Given the description of an element on the screen output the (x, y) to click on. 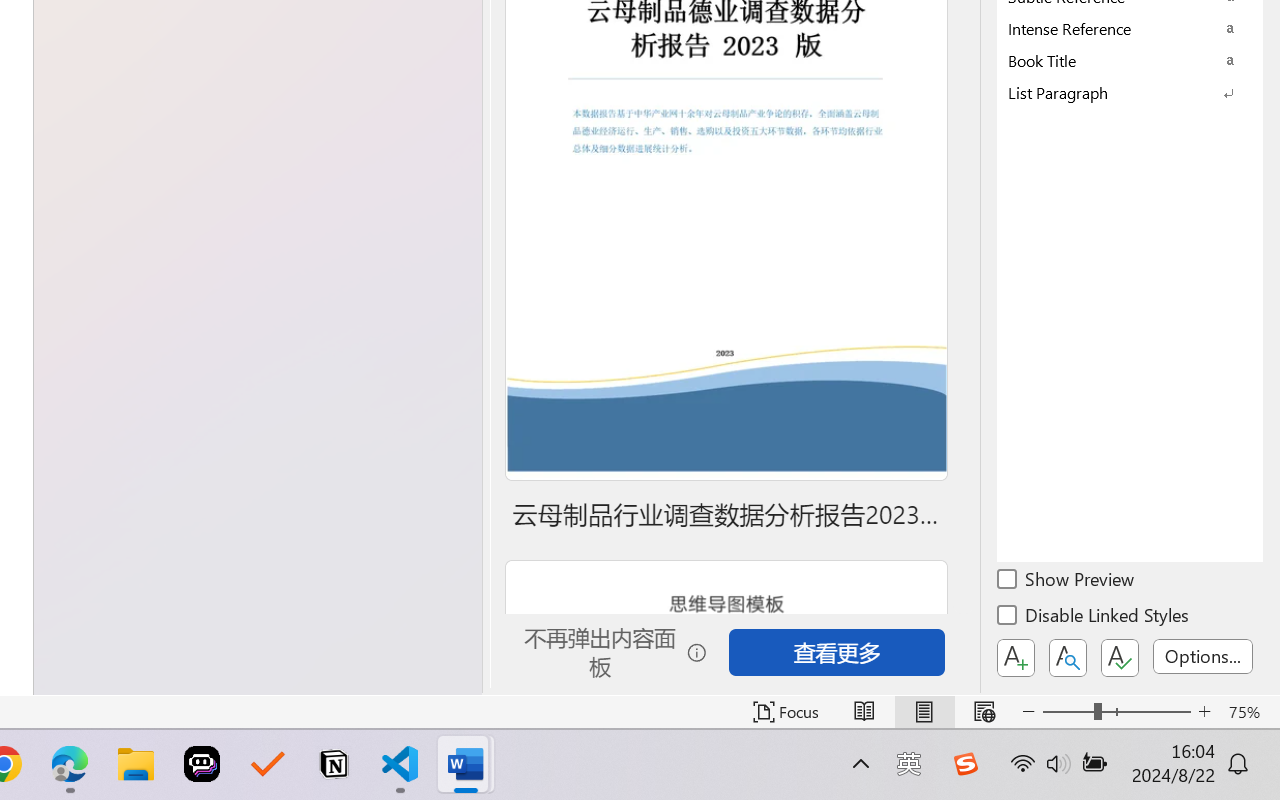
Zoom In (1204, 712)
Zoom (1116, 712)
Options... (1203, 656)
